Given the description of an element on the screen output the (x, y) to click on. 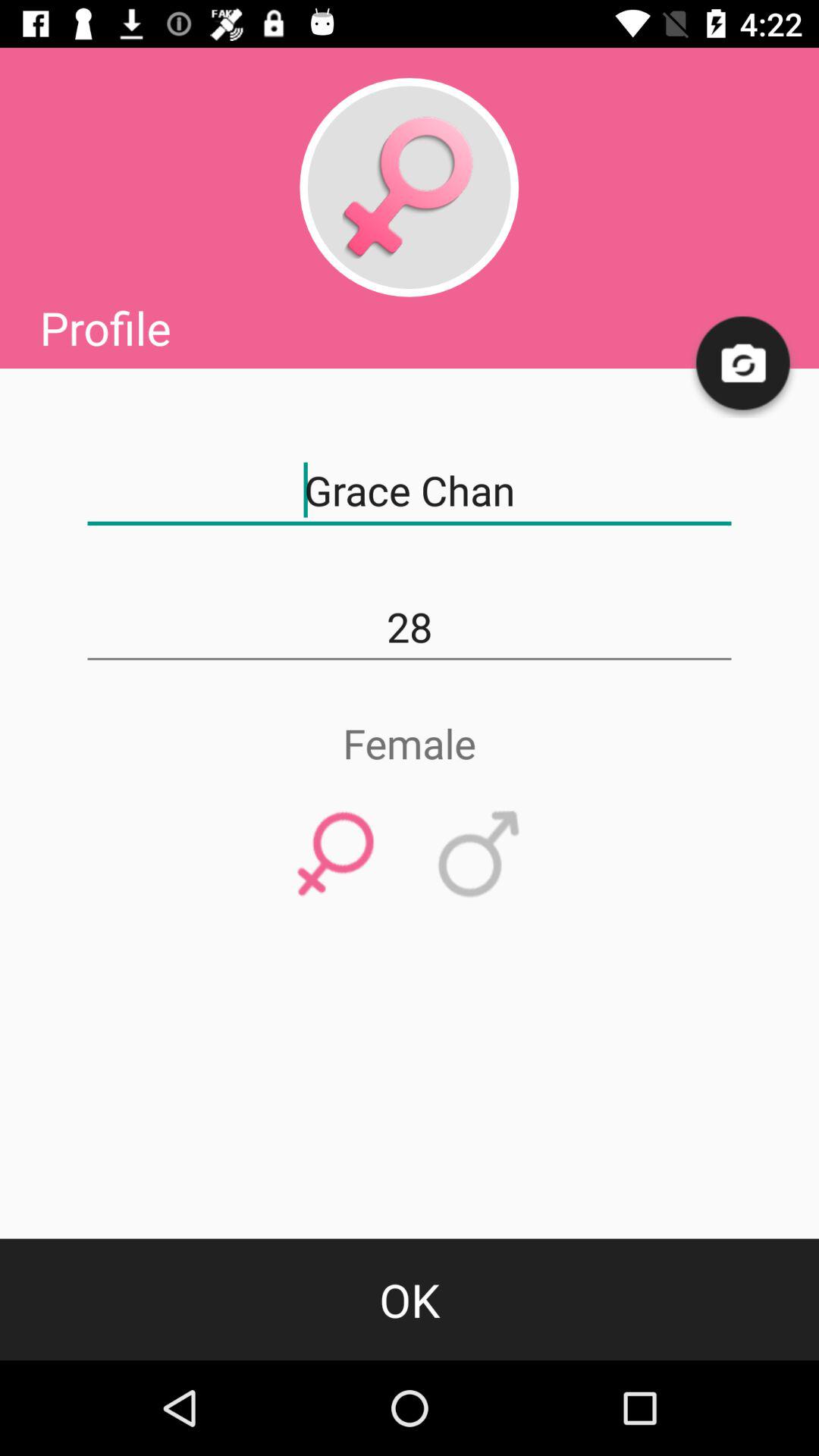
male sex symbol (479, 854)
